Given the description of an element on the screen output the (x, y) to click on. 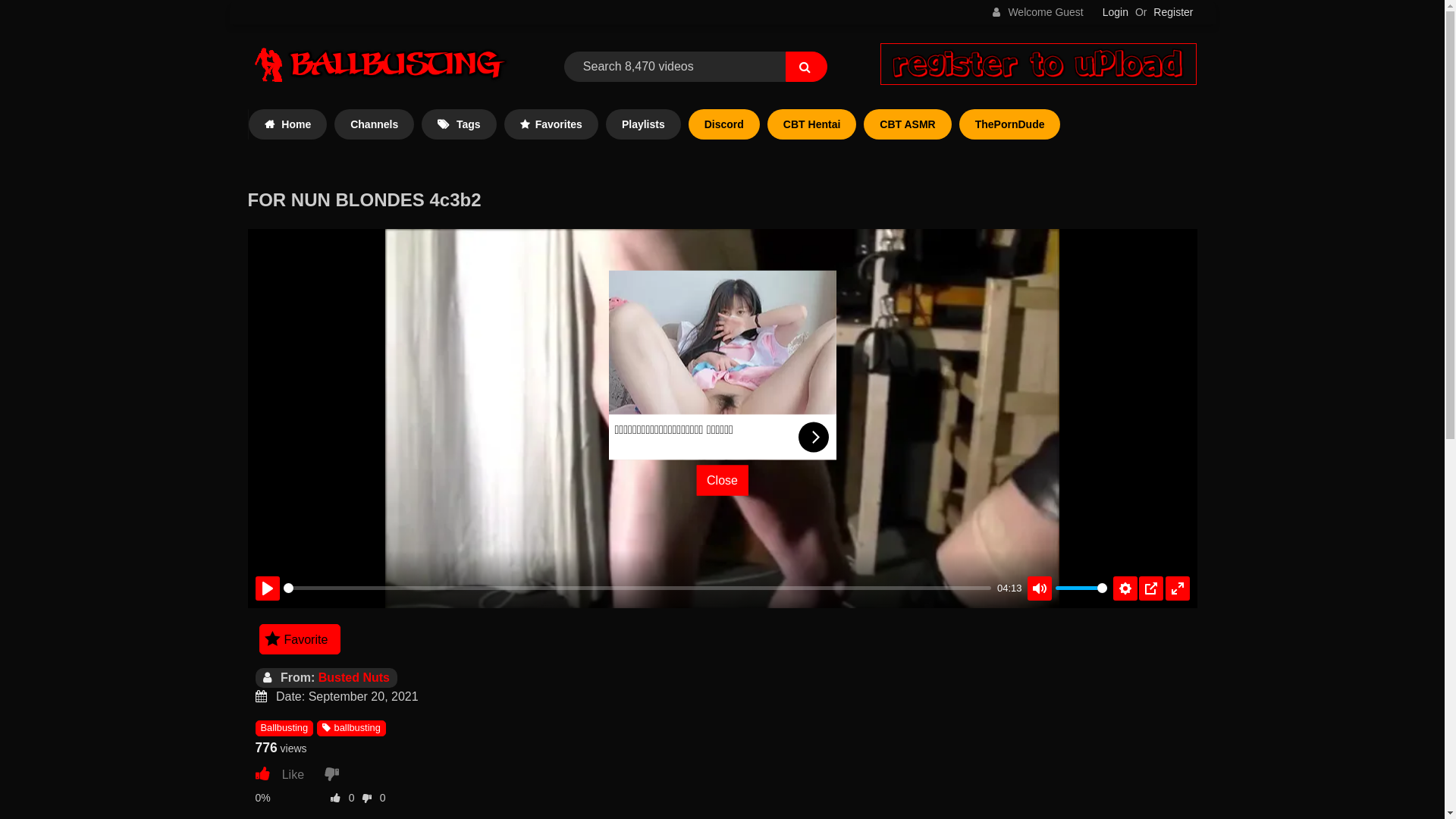
Settings Element type: text (1125, 588)
ballbusting Element type: text (350, 728)
Playlists Element type: text (642, 124)
Favorites Element type: text (551, 124)
ThePornDude Element type: text (1009, 124)
Register Element type: text (1172, 12)
ballbusting videos Element type: hover (379, 66)
Login Element type: text (1115, 12)
I dislike this Element type: hover (335, 772)
Discord Element type: text (723, 124)
Close Element type: text (722, 479)
Play Element type: text (266, 588)
PIP Element type: text (1151, 588)
Play Element type: text (721, 418)
Channels Element type: text (374, 124)
Home Element type: text (287, 124)
Favorite Element type: text (300, 639)
CBT ASMR Element type: text (906, 124)
Mute Element type: text (1039, 588)
Ballbusting Element type: text (283, 728)
Tags Element type: text (458, 124)
CBT Hentai Element type: text (811, 124)
Skip to content Element type: text (229, 0)
Busted Nuts Element type: text (353, 677)
Enter fullscreen Element type: text (1176, 588)
Like Element type: text (286, 772)
